Given the description of an element on the screen output the (x, y) to click on. 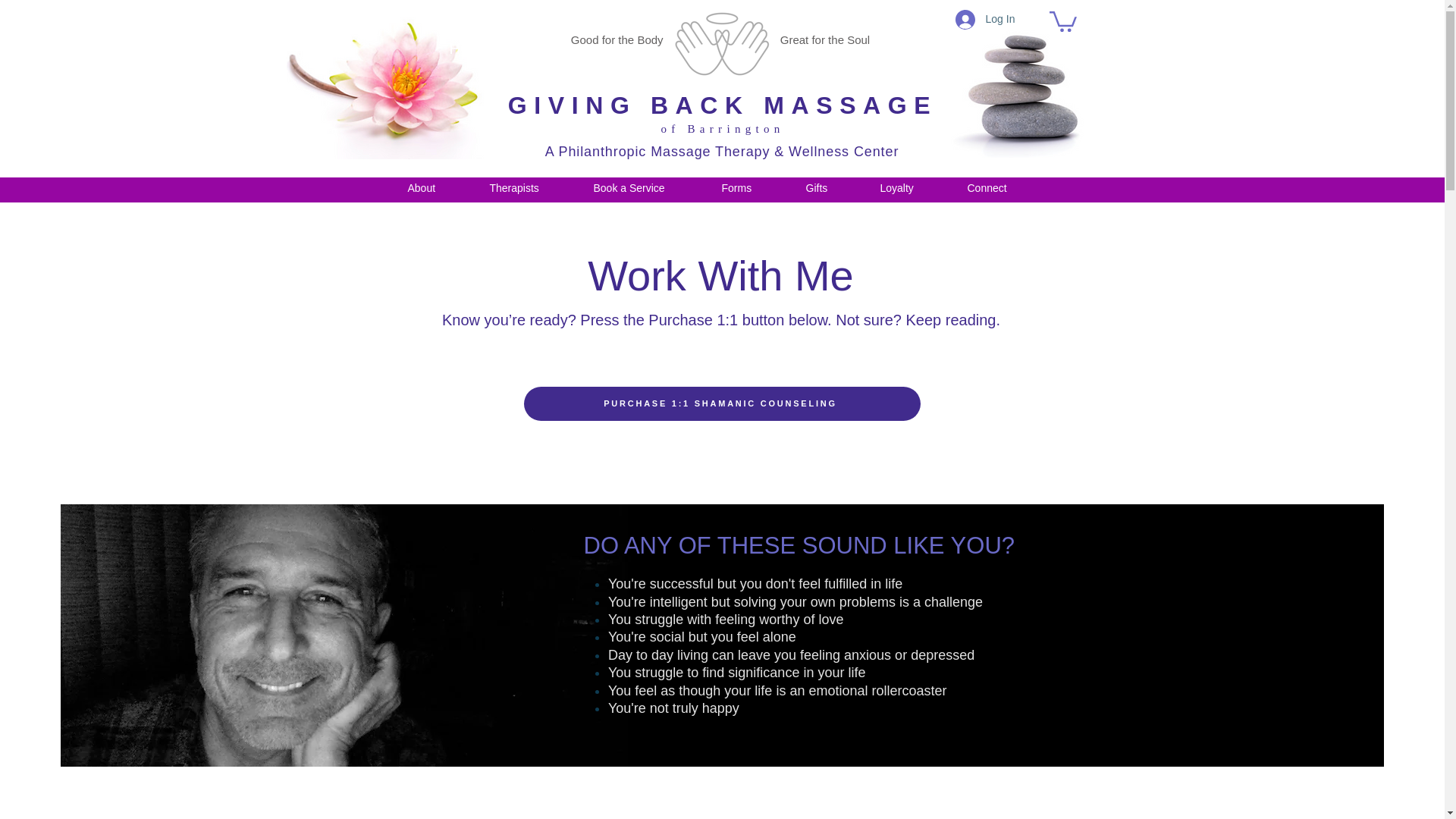
Loyalty (909, 181)
PURCHASE 1:1 SHAMANIC COUNSELING (721, 403)
Log In (982, 18)
Therapists (527, 181)
Connect (999, 181)
Facebook Like (1131, 151)
